Given the description of an element on the screen output the (x, y) to click on. 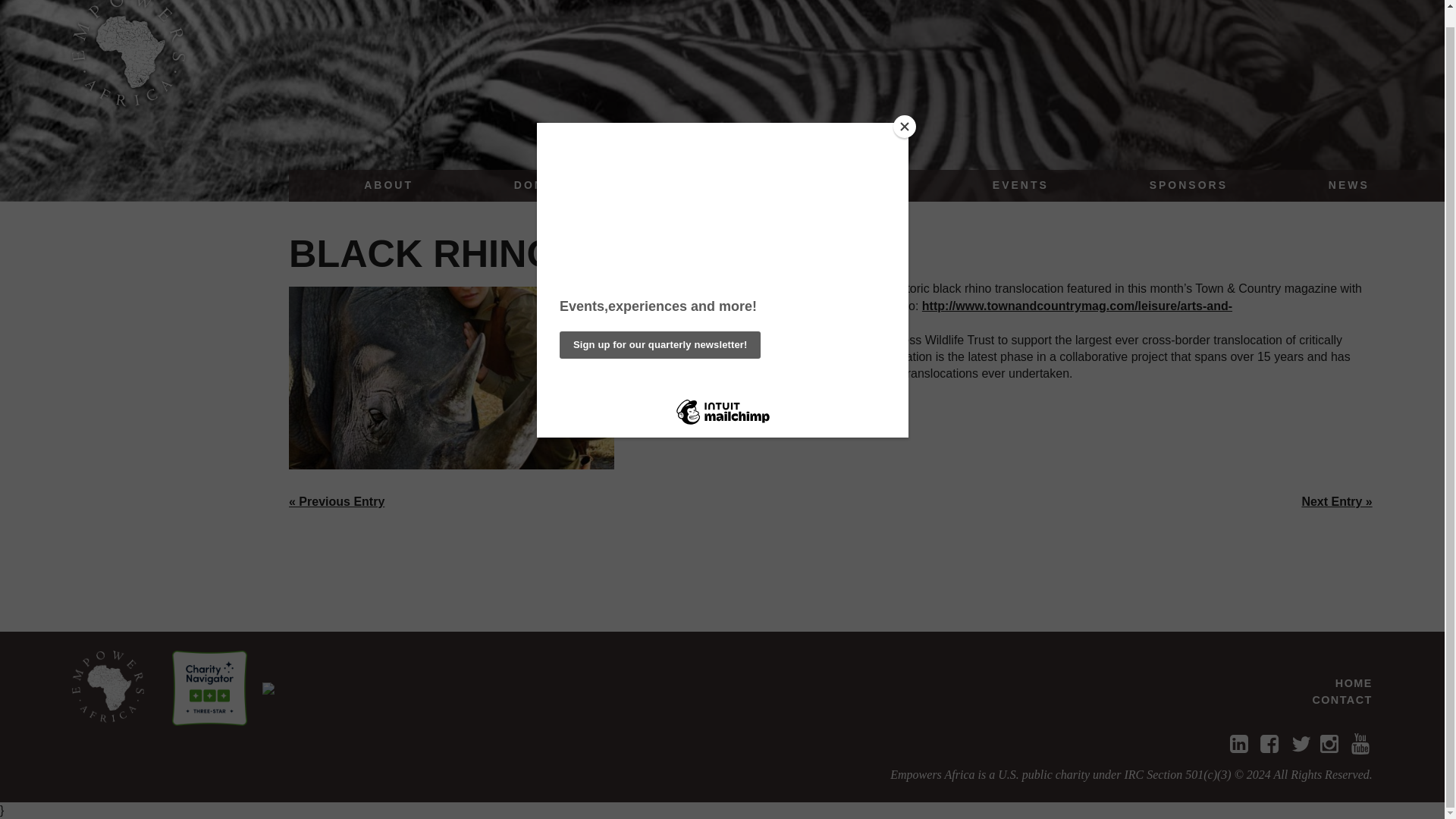
EVENTS (1020, 185)
CONTACT (1341, 699)
EMPOWERS AFRICA (107, 686)
HOME (1354, 683)
Empowers Africa (128, 53)
NEWS (1349, 185)
FILMS (869, 185)
PROJECTS (710, 185)
link to home page (107, 686)
SPONSORS (1188, 185)
ABOUT (388, 185)
DONATE (542, 185)
